Given the description of an element on the screen output the (x, y) to click on. 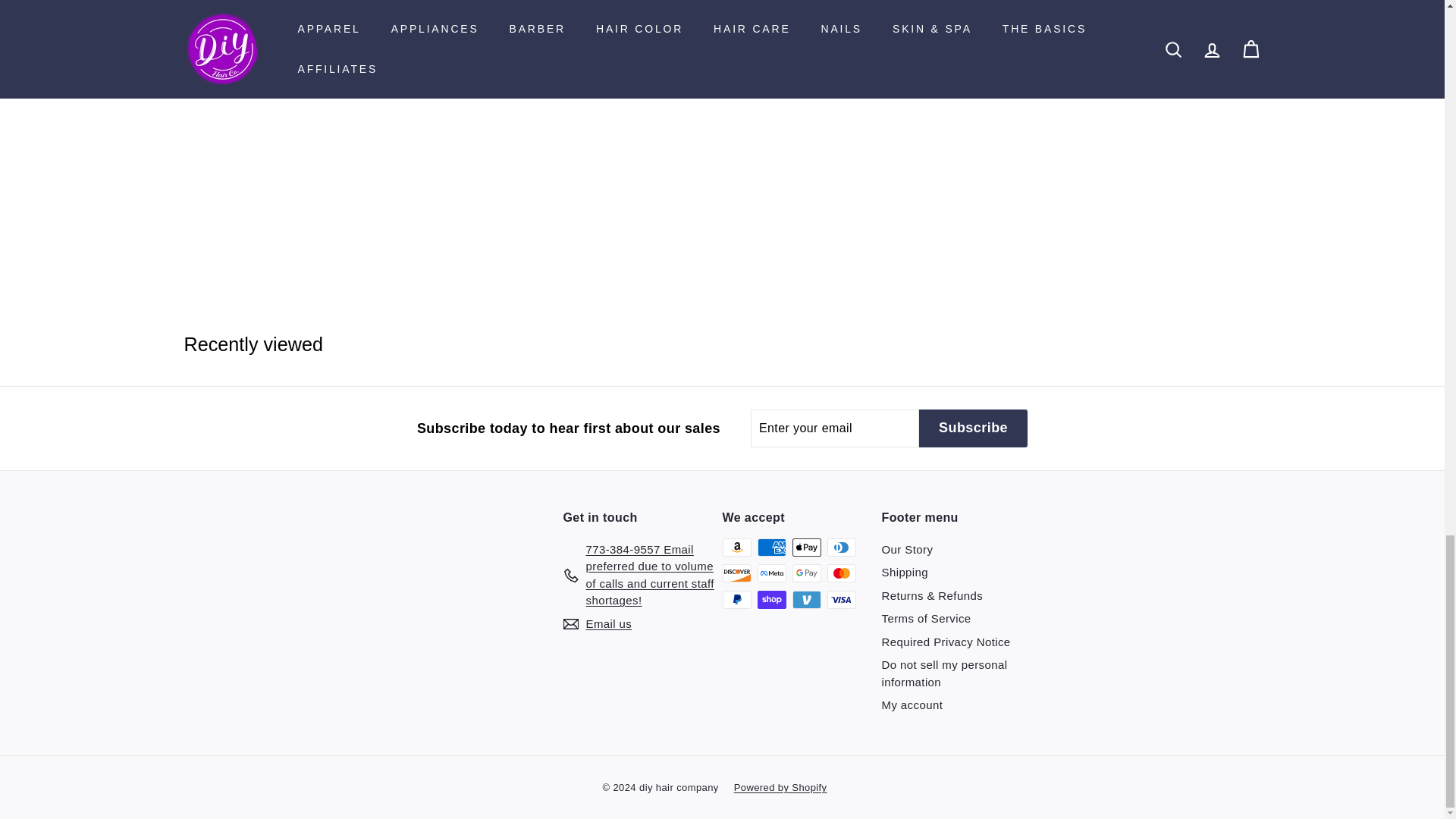
American Express (771, 547)
Diners Club (841, 547)
Google Pay (806, 573)
Meta Pay (771, 573)
Discover (736, 573)
Amazon (736, 547)
Apple Pay (806, 547)
